Given the description of an element on the screen output the (x, y) to click on. 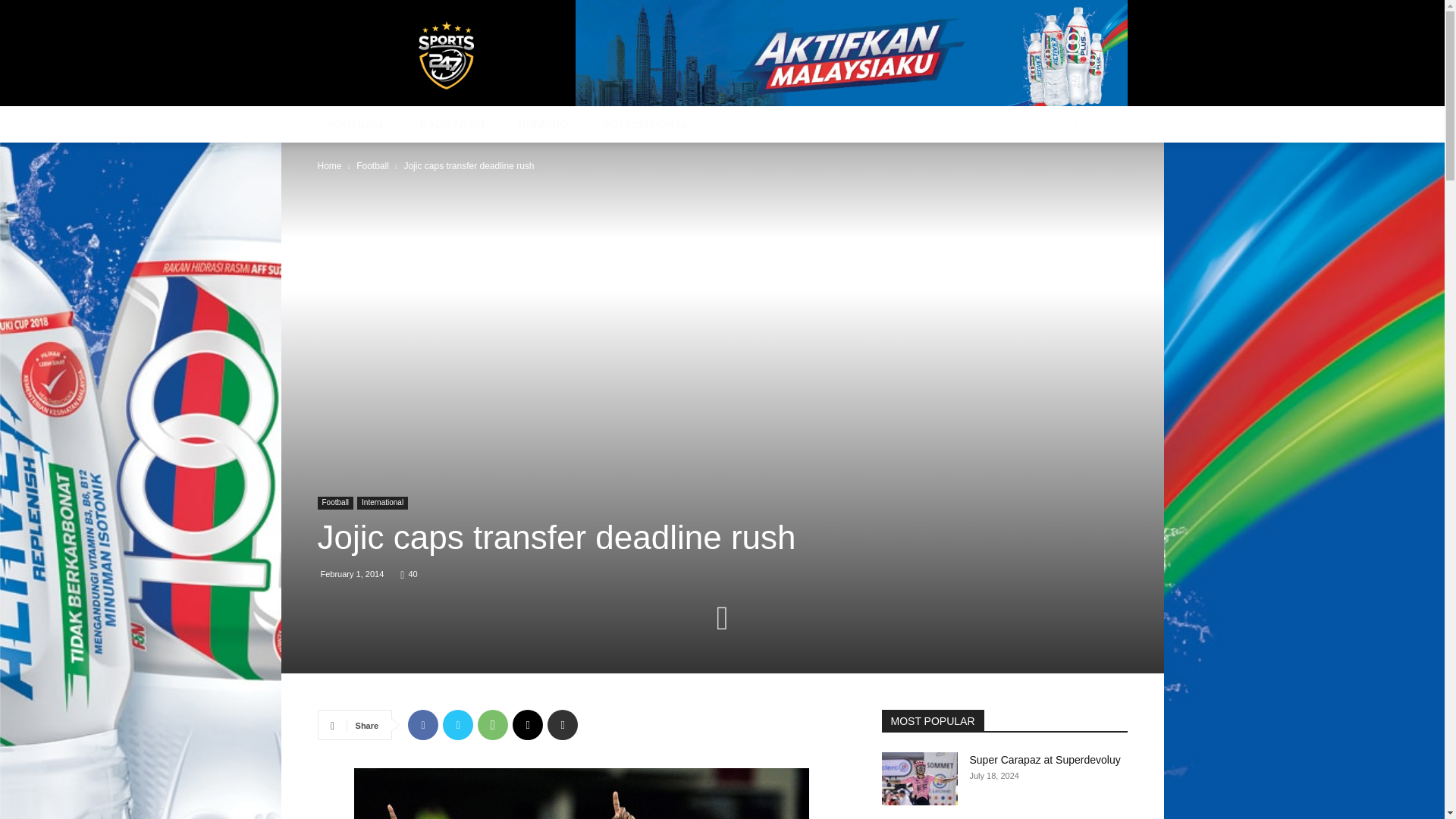
FOOTBALL (363, 124)
BADMINTON (458, 124)
